Given the description of an element on the screen output the (x, y) to click on. 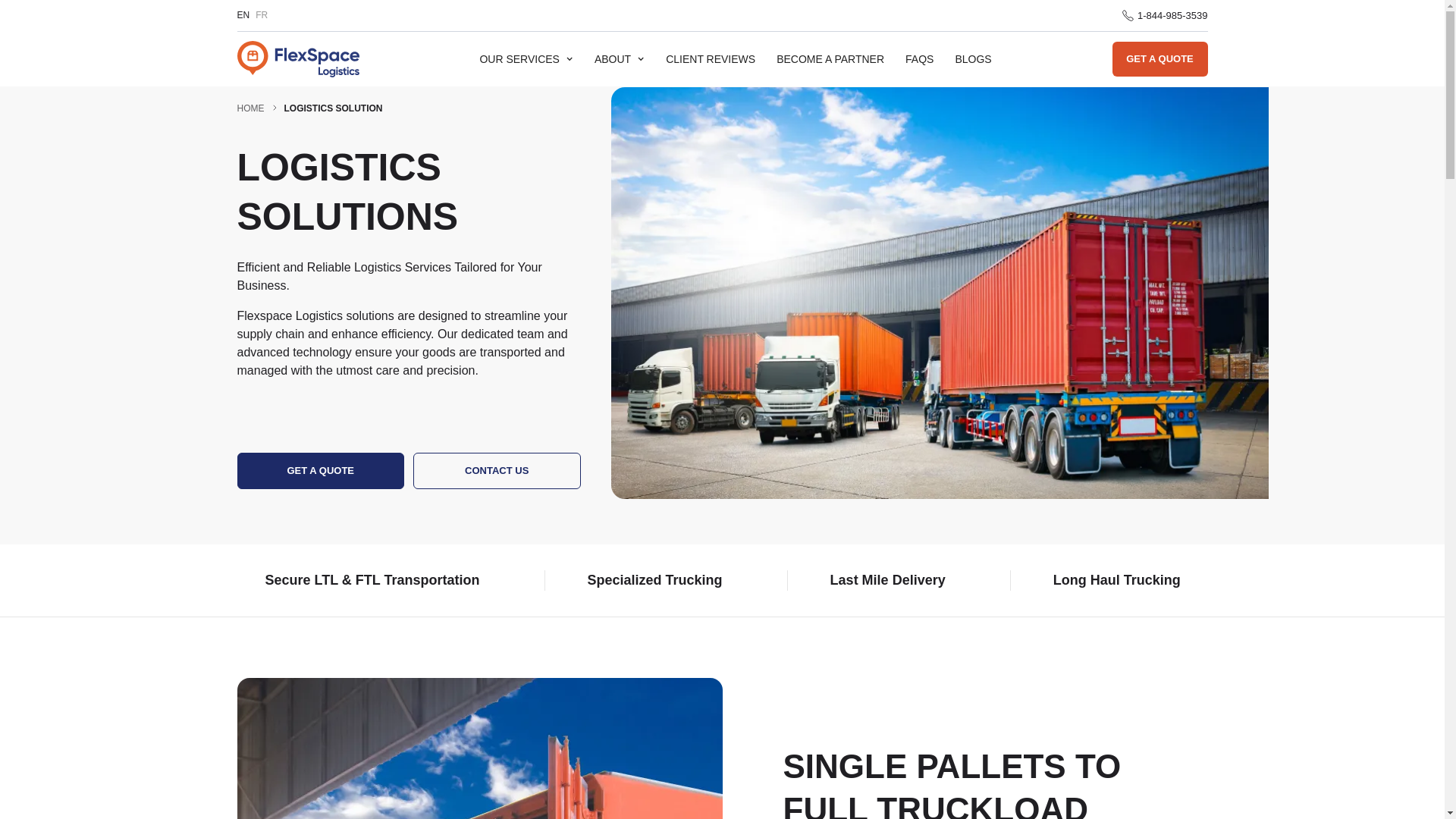
CONTACT US (496, 470)
Specialized Trucking (655, 580)
1-844-985-3539 (1164, 15)
FR (261, 14)
Long Haul Trucking (1116, 580)
FAQS (919, 59)
GET A QUOTE (319, 470)
CLIENT REVIEWS (710, 59)
Last Mile Delivery (886, 580)
BECOME A PARTNER (829, 59)
